Given the description of an element on the screen output the (x, y) to click on. 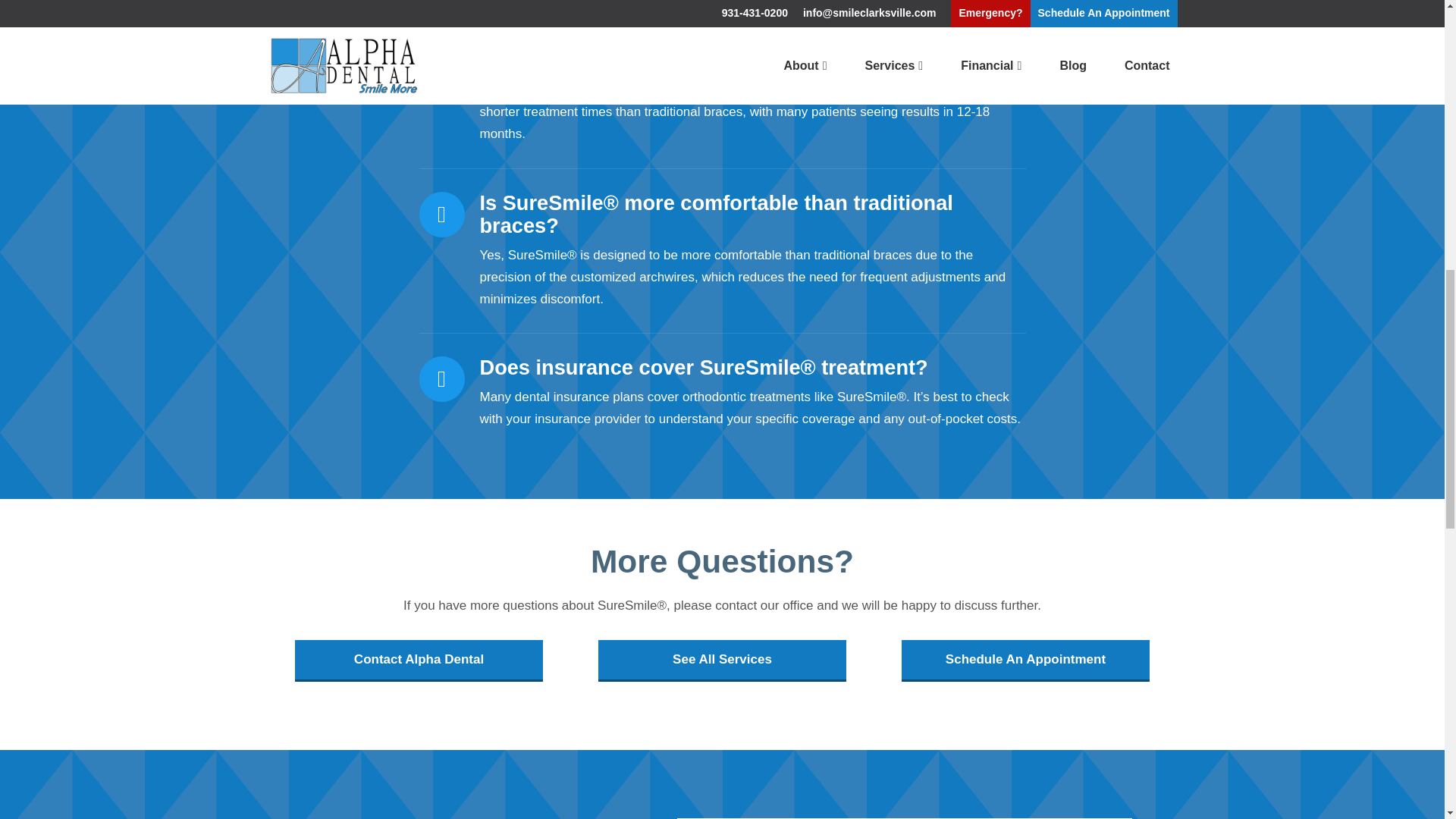
Schedule An Appointment (1025, 660)
